Given the description of an element on the screen output the (x, y) to click on. 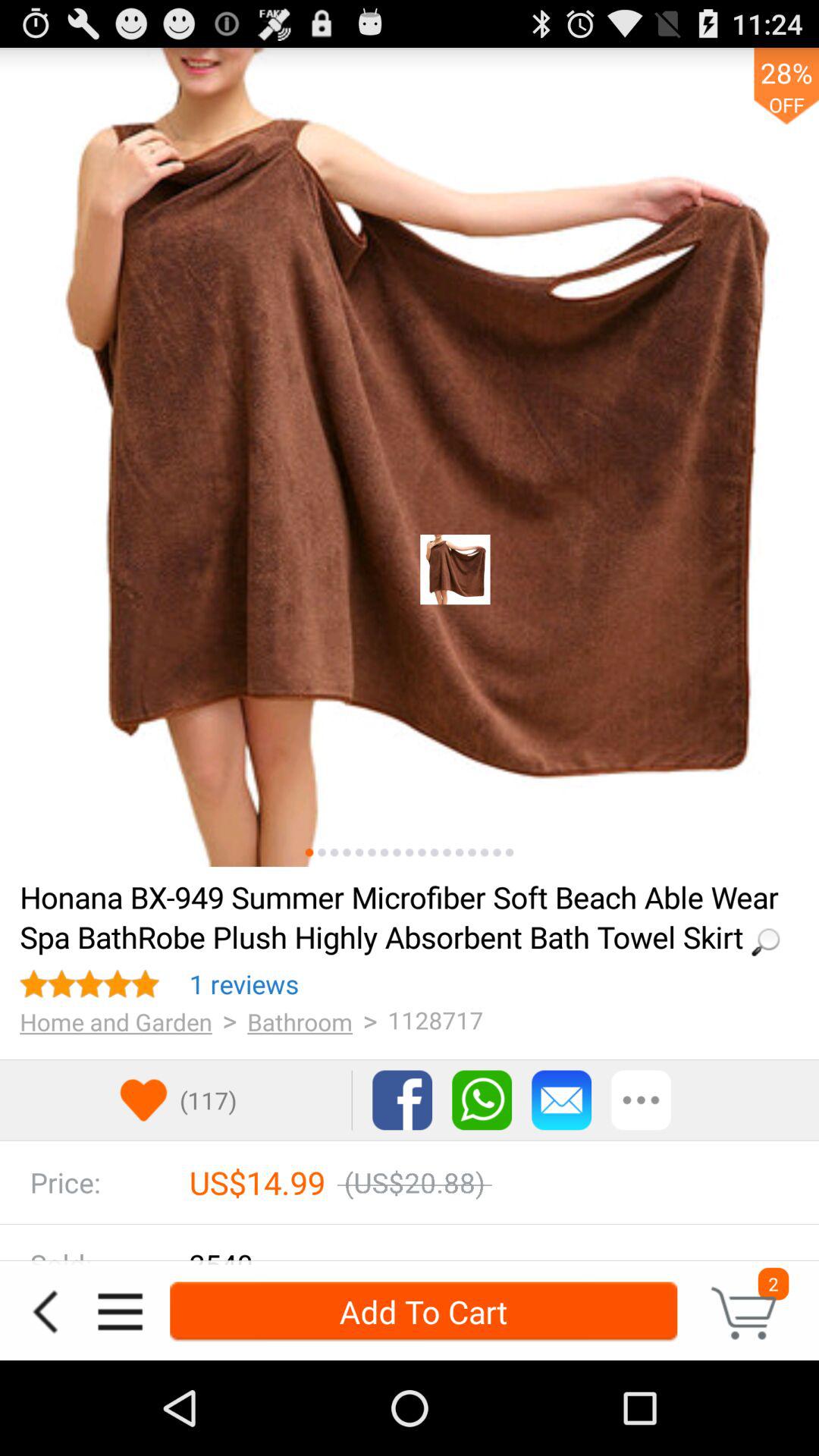
menu (120, 1311)
